Given the description of an element on the screen output the (x, y) to click on. 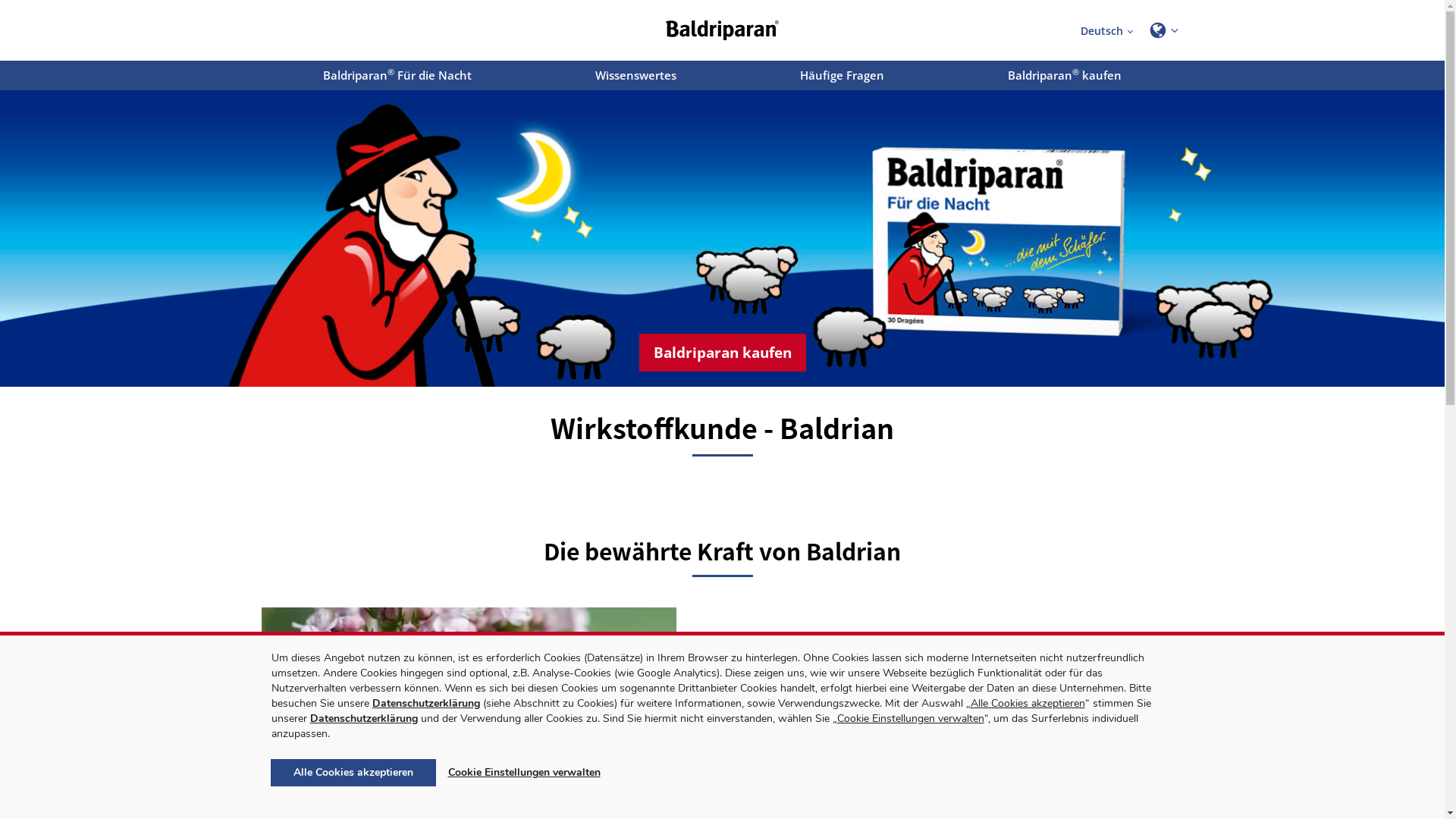
Baldriparan kaufen Element type: text (721, 352)
Alle Cookies akzeptieren Element type: text (352, 772)
Cookie Einstellungen verwalten Element type: text (523, 772)
Cookie Einstellungen verwalten Element type: text (910, 718)
Wissenswertes Element type: text (635, 75)
Deutsch Element type: text (1106, 30)
